Given the description of an element on the screen output the (x, y) to click on. 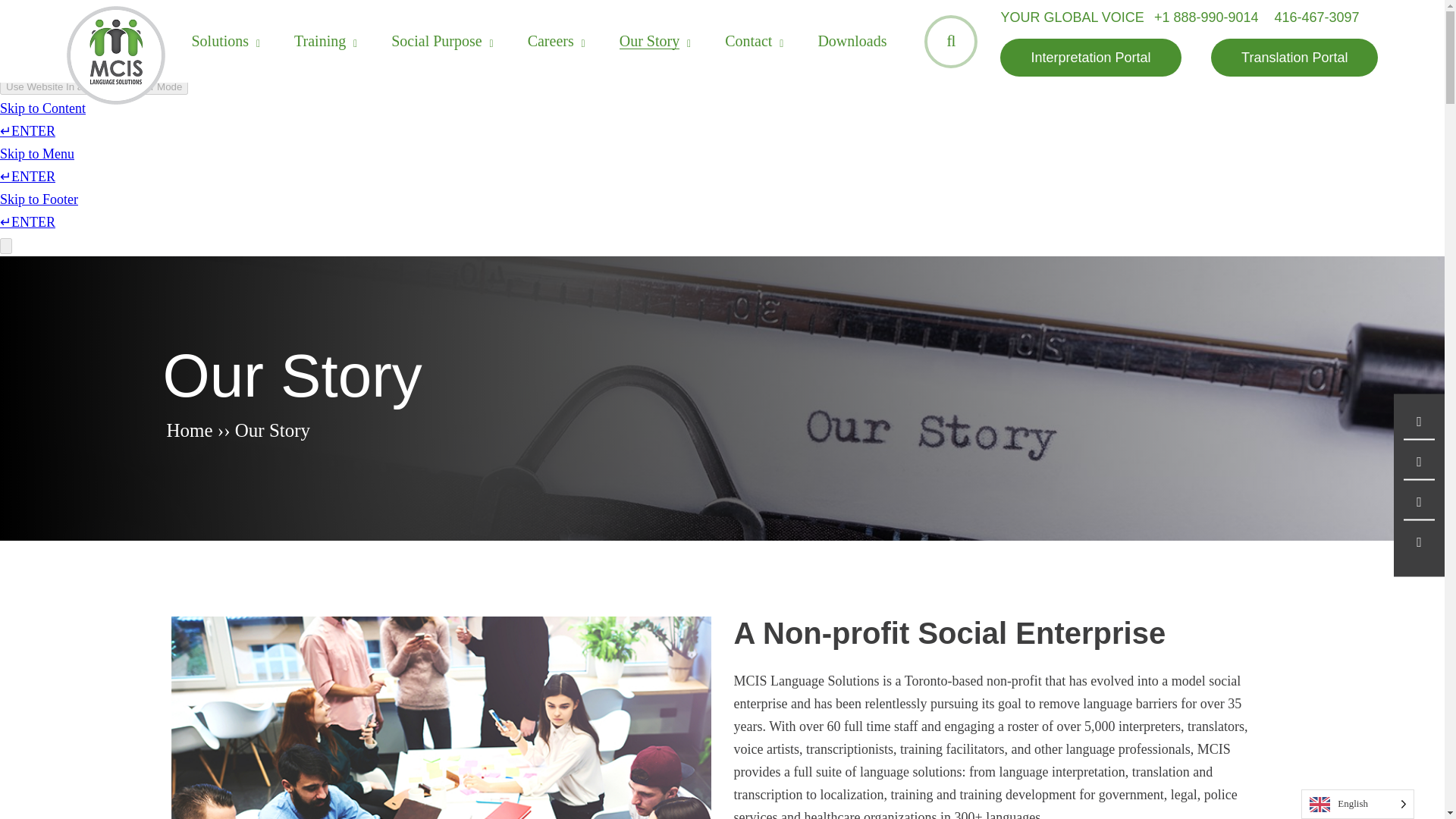
Home (189, 430)
Solutions (219, 40)
Careers (550, 40)
our-stories (440, 717)
Training (320, 40)
Social Purpose (436, 40)
